Given the description of an element on the screen output the (x, y) to click on. 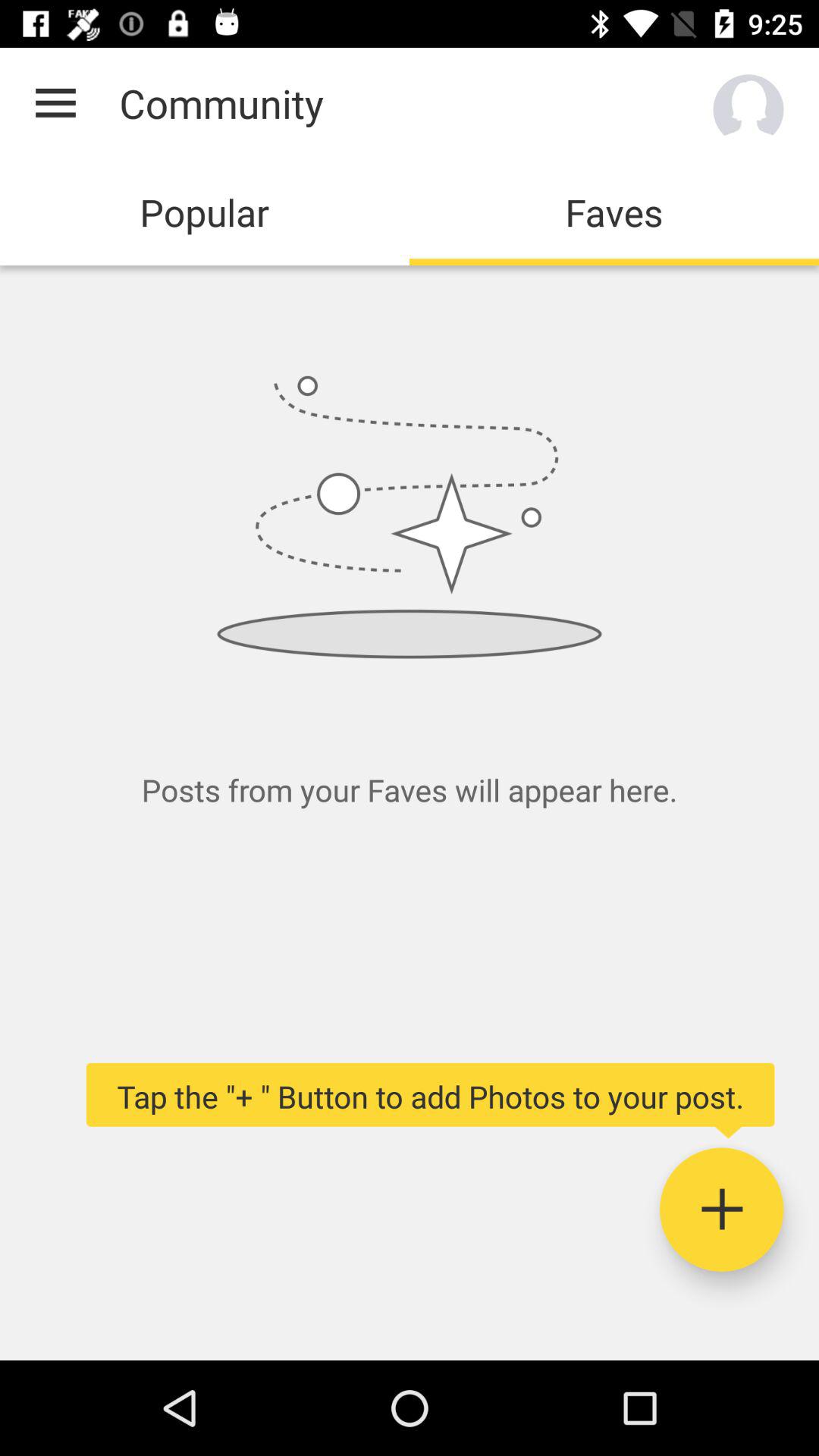
open the item above posts from your icon (55, 103)
